Given the description of an element on the screen output the (x, y) to click on. 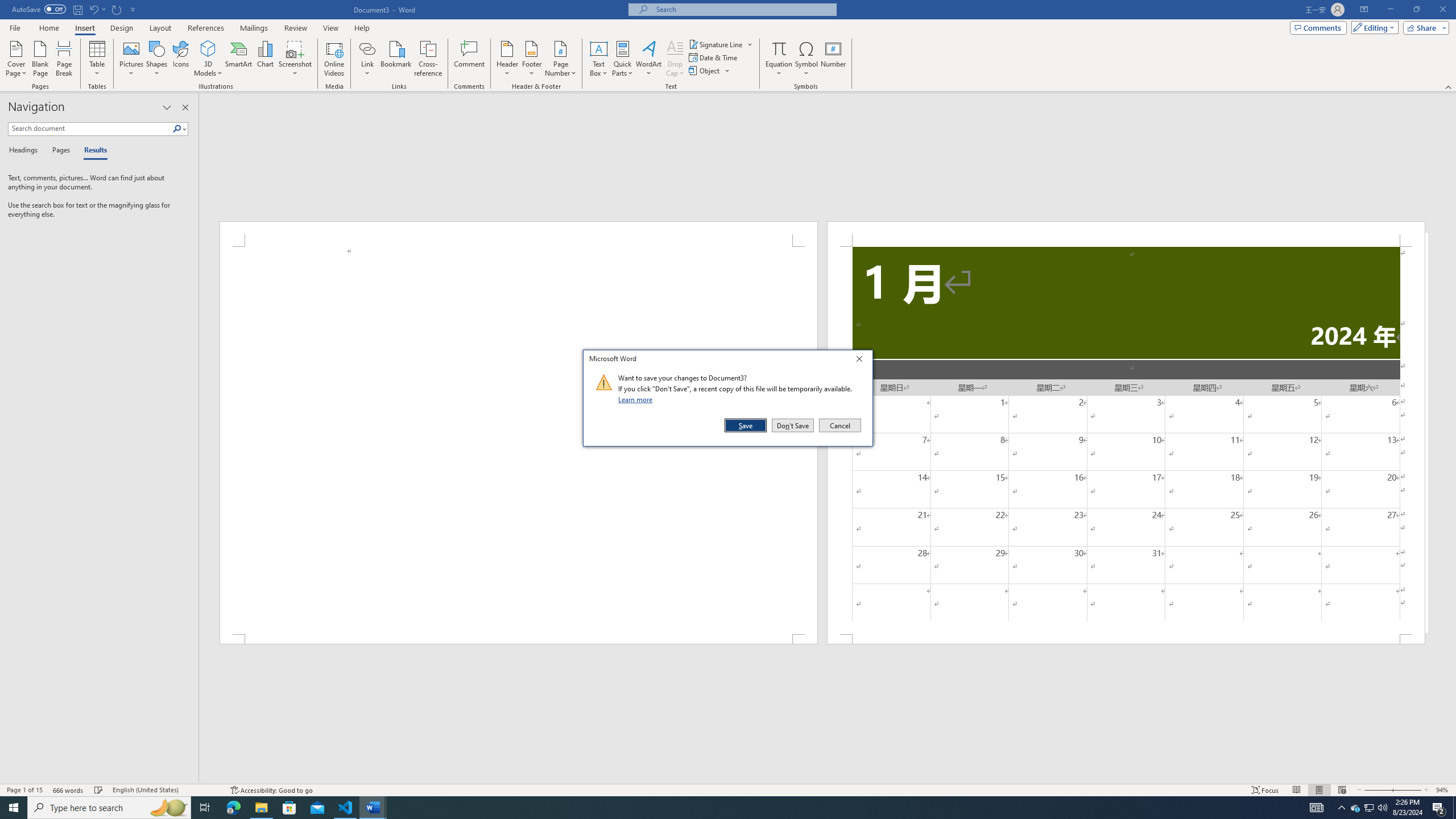
Drop Cap (674, 58)
Bookmark... (396, 58)
Link (367, 58)
Online Videos... (333, 58)
Notification Chevron (1341, 807)
Comment (469, 58)
